Given the description of an element on the screen output the (x, y) to click on. 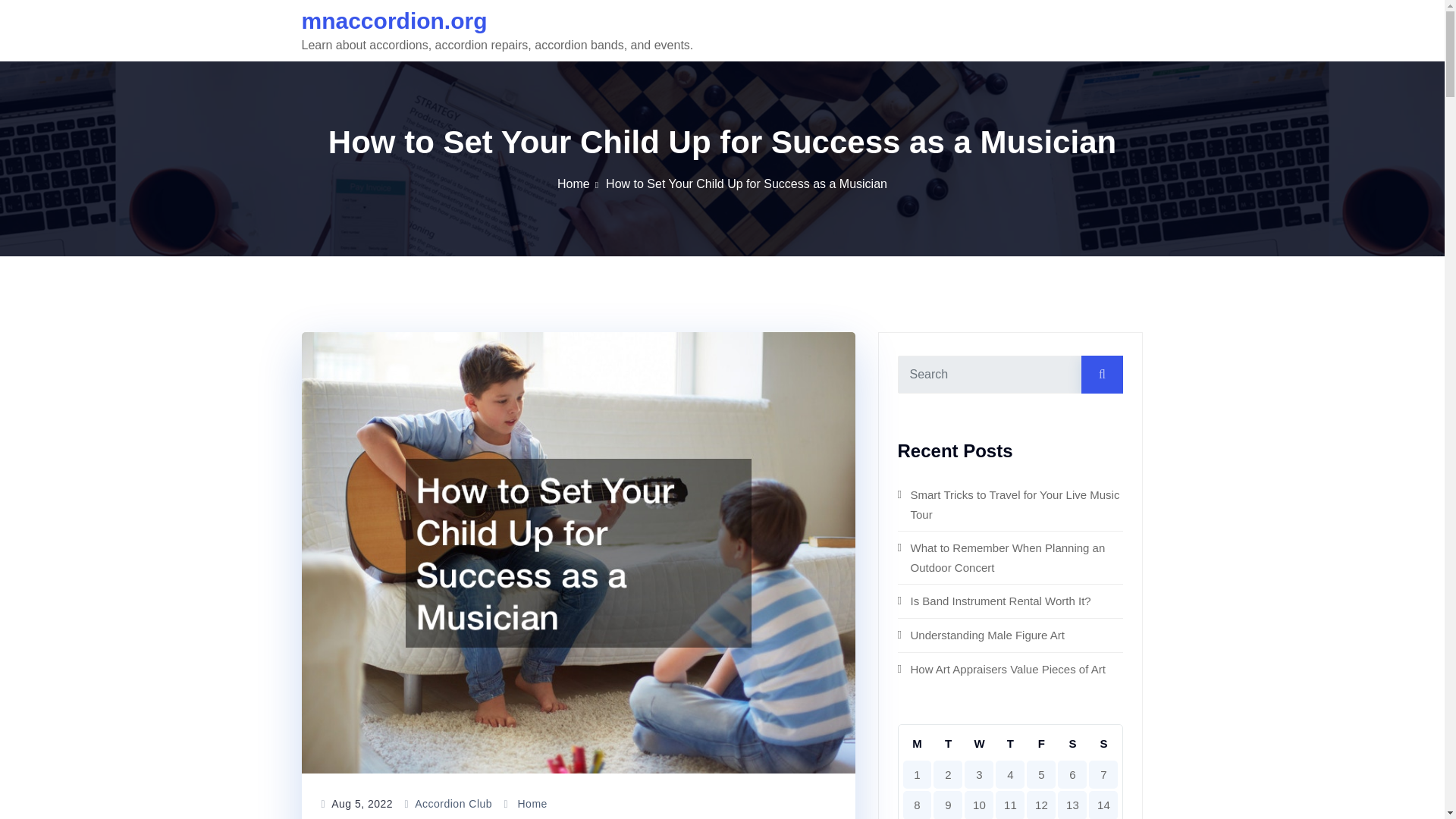
mnaccordion.org (394, 20)
Sunday (1103, 743)
Wednesday (977, 743)
Home (531, 804)
Accordion Club (453, 804)
Tuesday (947, 743)
Friday (1040, 743)
Is Band Instrument Rental Worth It? (1000, 600)
Aug 5, 2022 (362, 804)
What to Remember When Planning an Outdoor Concert (1007, 557)
Thursday (1010, 743)
Monday (916, 743)
Smart Tricks to Travel for Your Live Music Tour (1014, 504)
Understanding Male Figure Art (987, 634)
